Given the description of an element on the screen output the (x, y) to click on. 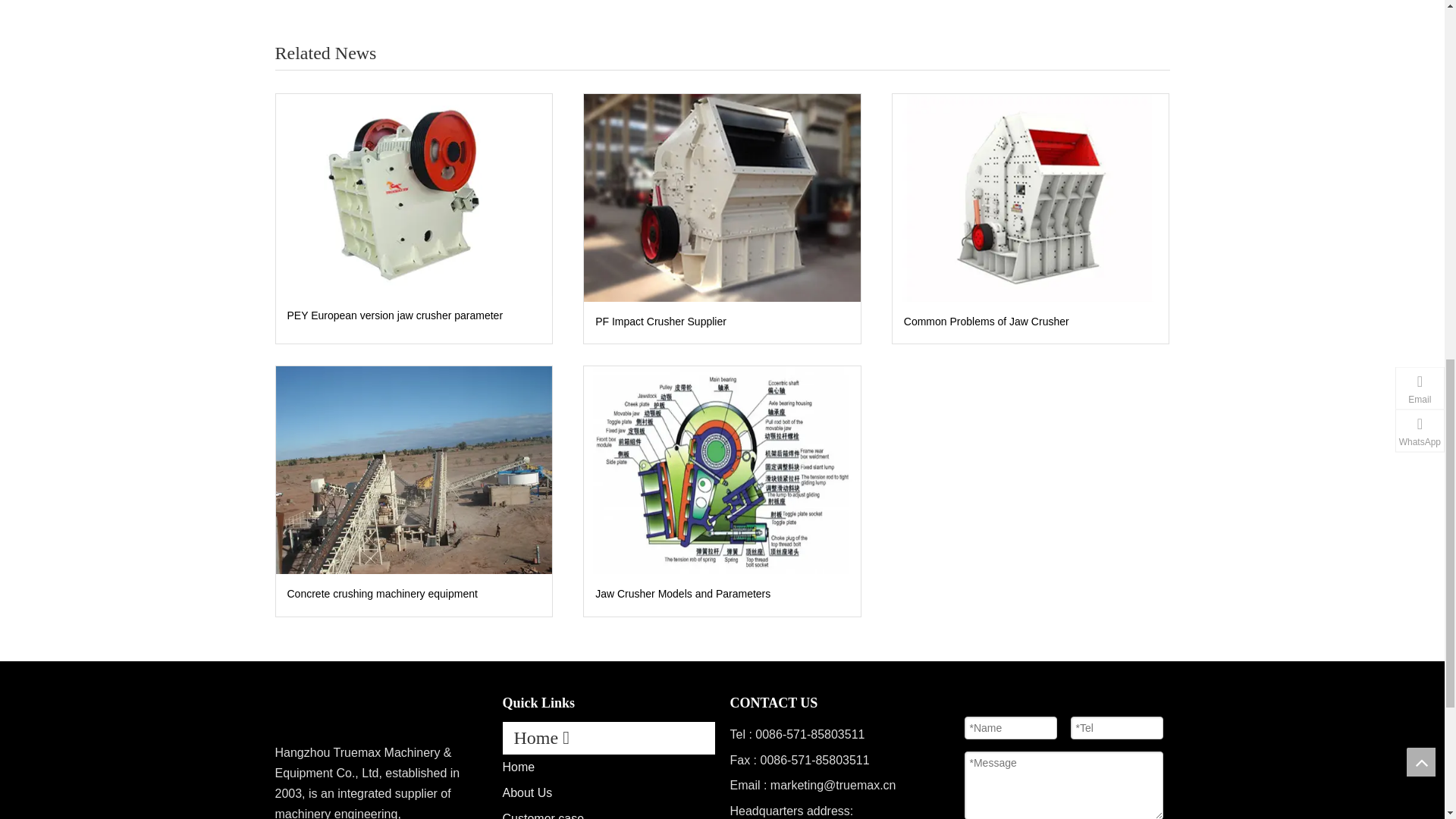
PEY European version jaw crusher parameter (413, 375)
Jaw Crusher Models and Parameters (721, 529)
PEY European version jaw crusher parameter (414, 254)
Concrete crushing machinery equipment (413, 654)
Common Problems of Jaw Crusher (1030, 382)
Common Problems of Jaw Crusher (1030, 257)
PF Impact Crusher Supplier (721, 257)
Concrete crushing machinery equipment (414, 529)
PF Impact Crusher Supplier (721, 382)
Jaw Crusher Models and Parameters (721, 654)
